Given the description of an element on the screen output the (x, y) to click on. 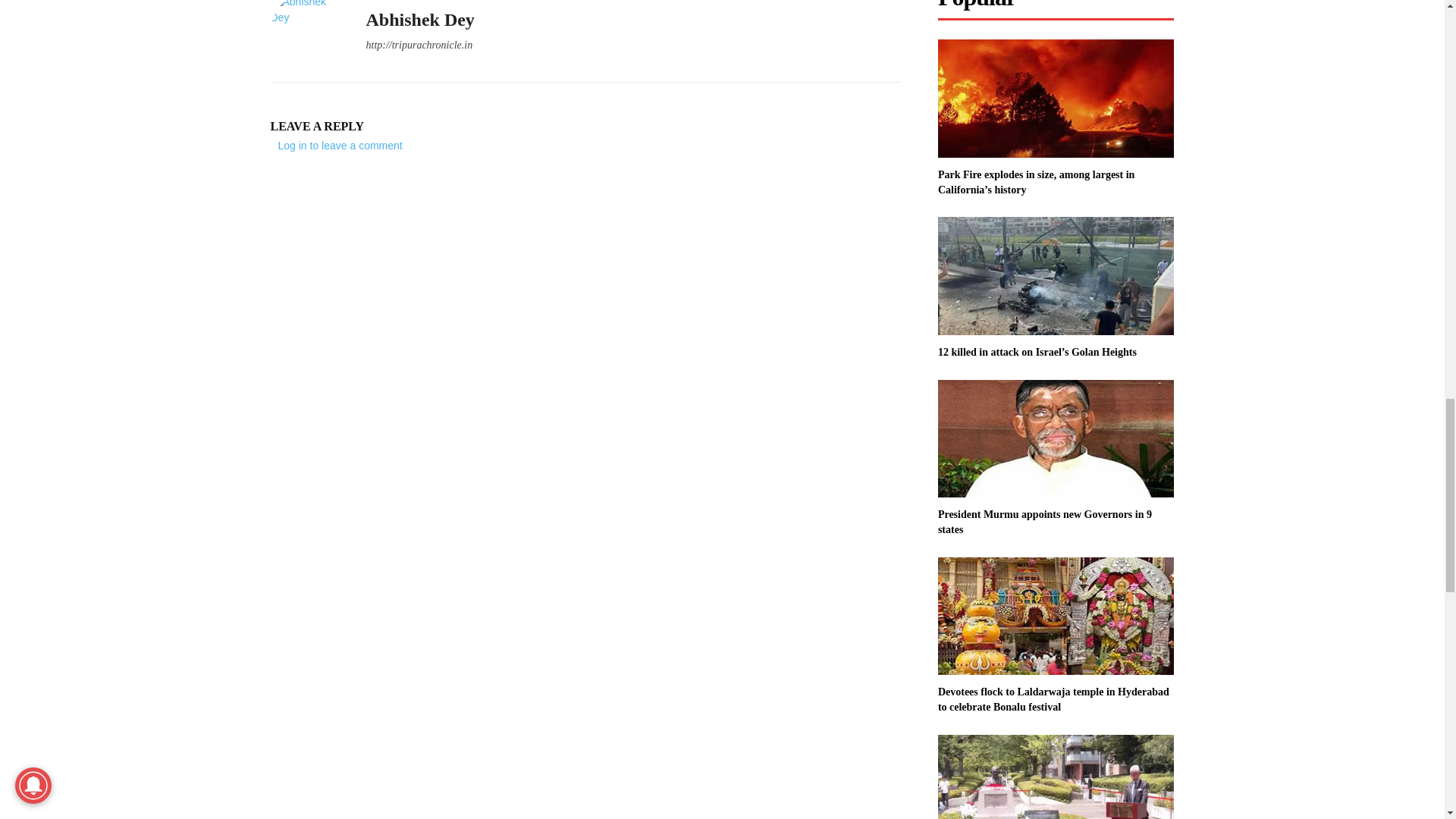
Abhishek Dey (305, 33)
